Given the description of an element on the screen output the (x, y) to click on. 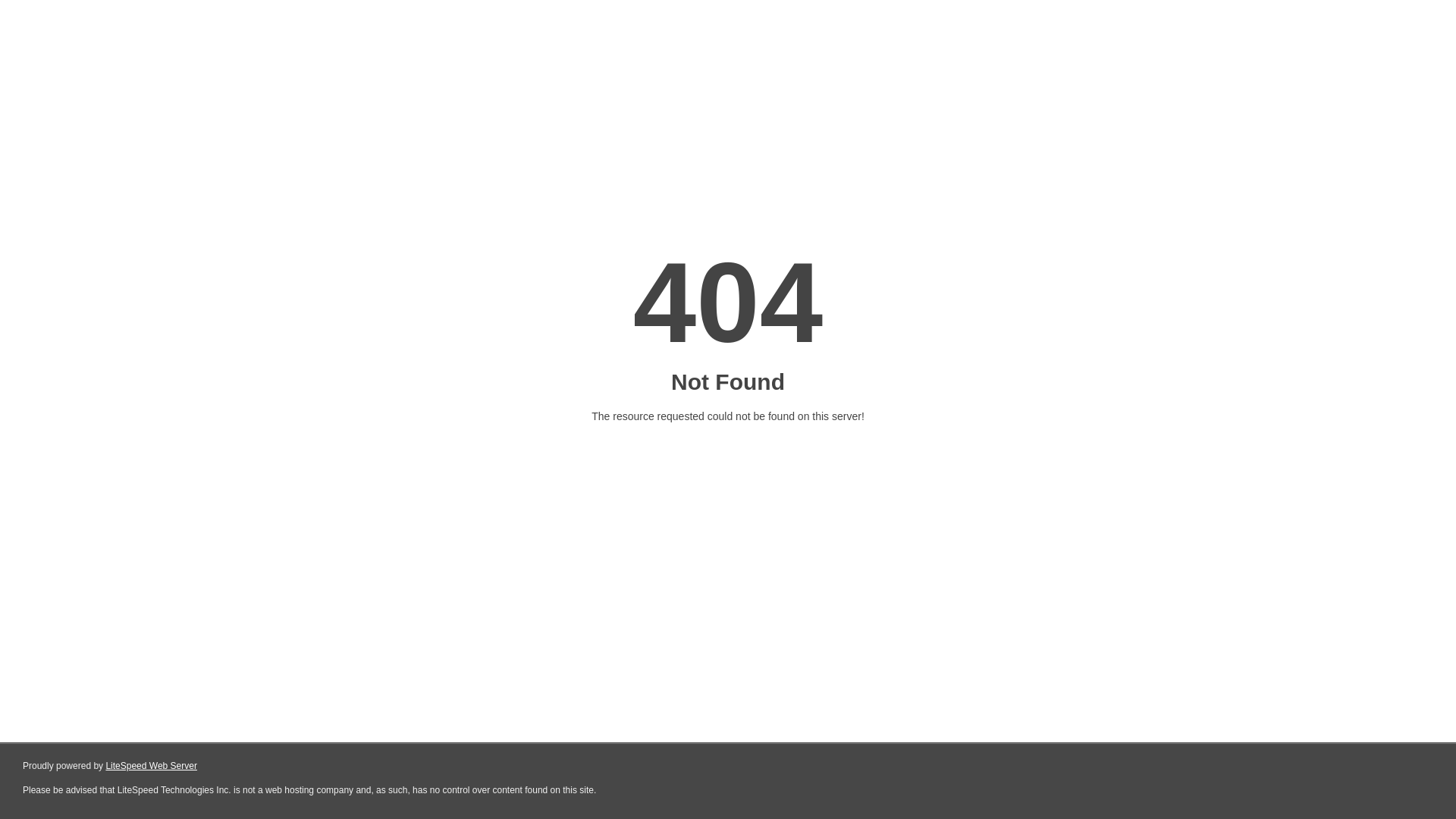
LiteSpeed Web Server Element type: text (151, 765)
